Given the description of an element on the screen output the (x, y) to click on. 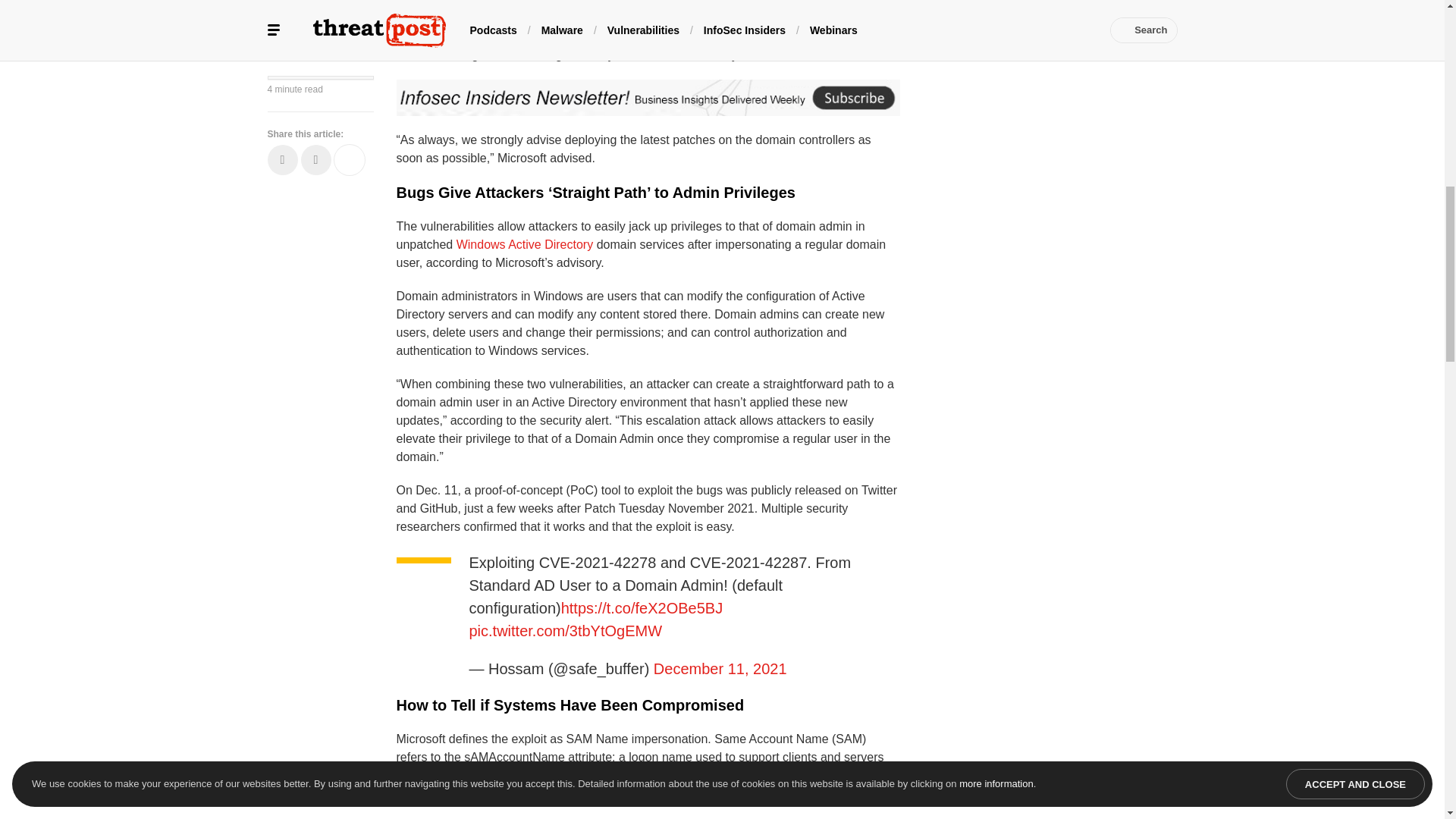
November 2021 Patch Tuesday (644, 4)
Windows Active Directory (525, 244)
December 11, 2021 (720, 668)
Share via Twitter (314, 61)
Share via Facebook (281, 61)
